Given the description of an element on the screen output the (x, y) to click on. 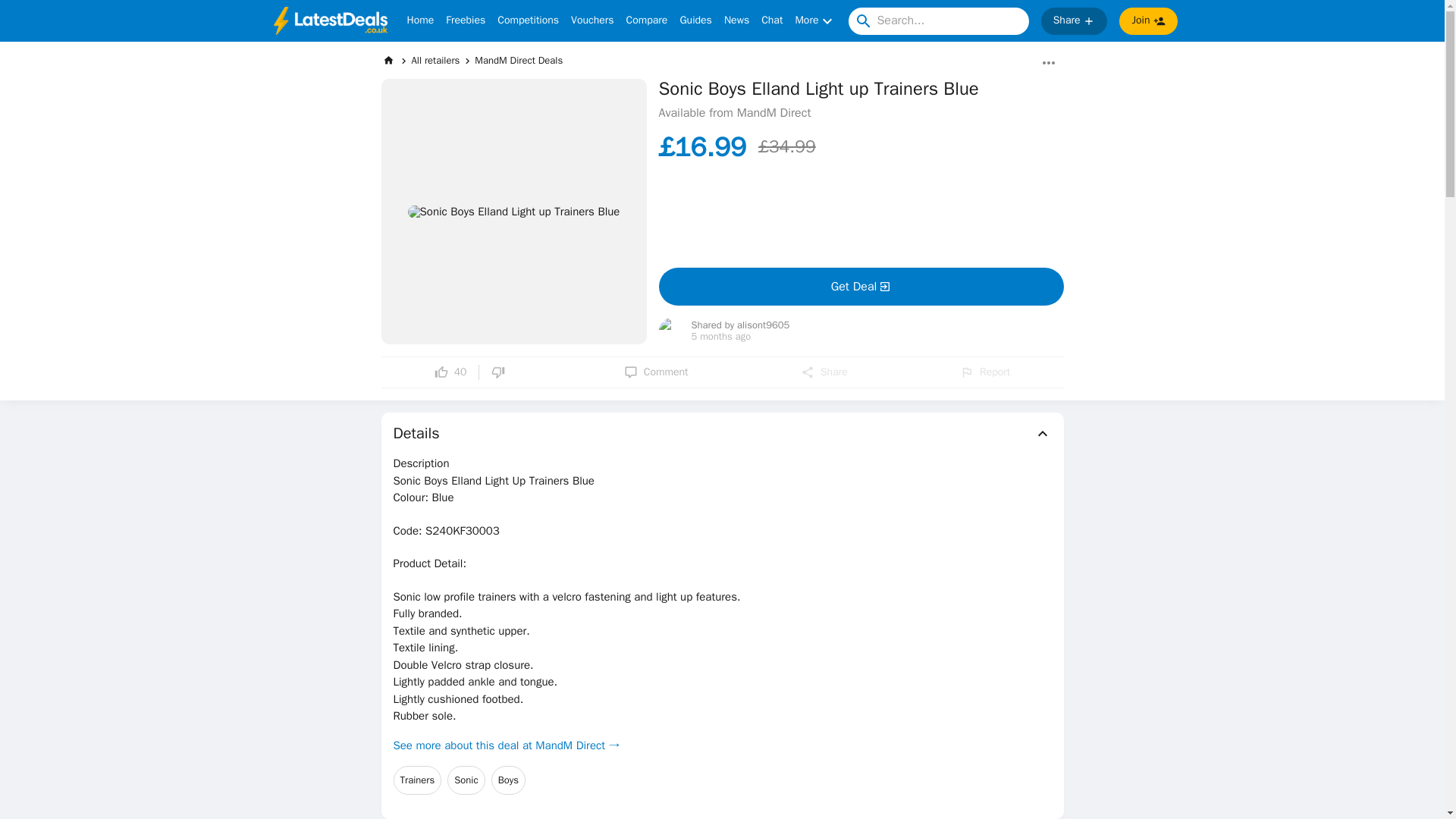
All retailers (435, 60)
40 (450, 372)
Shared by alisont9605 (740, 325)
Guides (695, 21)
Vouchers (591, 21)
Competitions (528, 21)
Trainers (417, 779)
Chat (772, 21)
Share (823, 371)
More (814, 21)
Freebies (464, 21)
Sonic (465, 779)
Comment (656, 371)
Boys (508, 779)
Join (1147, 21)
